Given the description of an element on the screen output the (x, y) to click on. 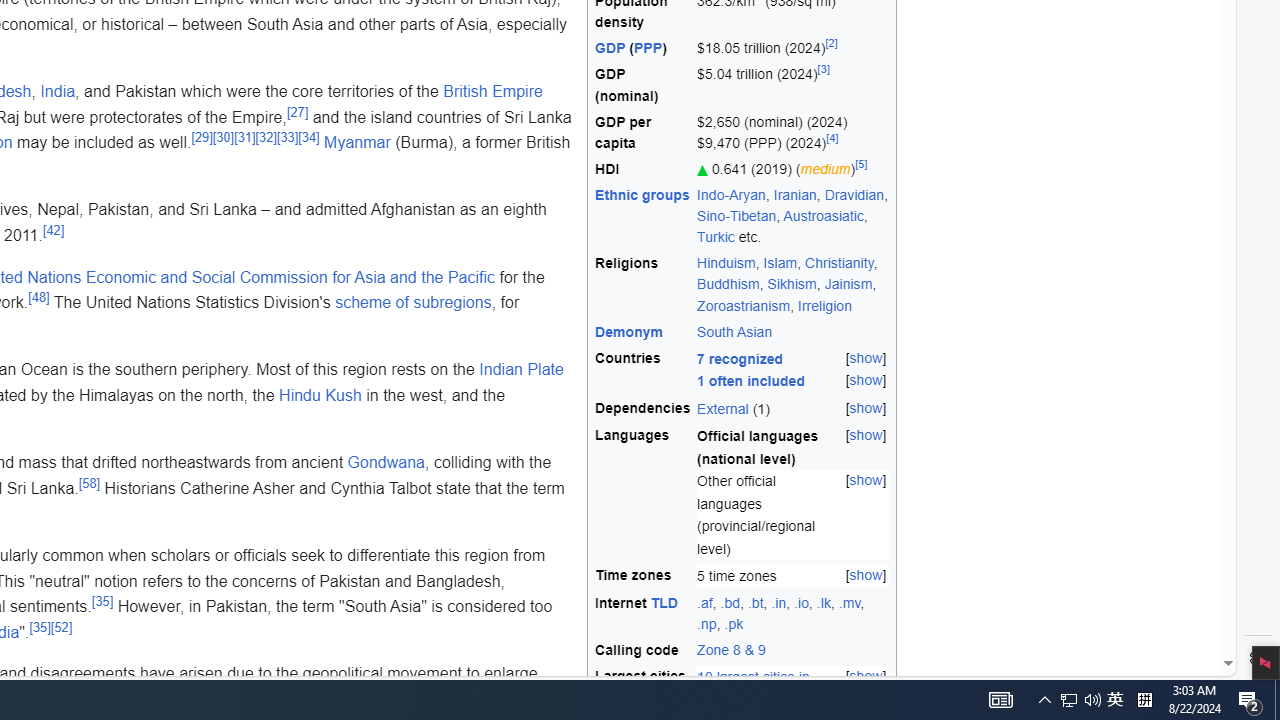
Zone 8 & 9 (731, 650)
.pk (733, 624)
Time zones (643, 575)
Dravidian (854, 195)
Islam (779, 263)
Myanmar (356, 142)
.io (801, 602)
$18.05 trillion (2024)[2] (793, 48)
Buddhism (728, 284)
India (57, 91)
Calling code (643, 651)
scheme of subregions (413, 302)
